Given the description of an element on the screen output the (x, y) to click on. 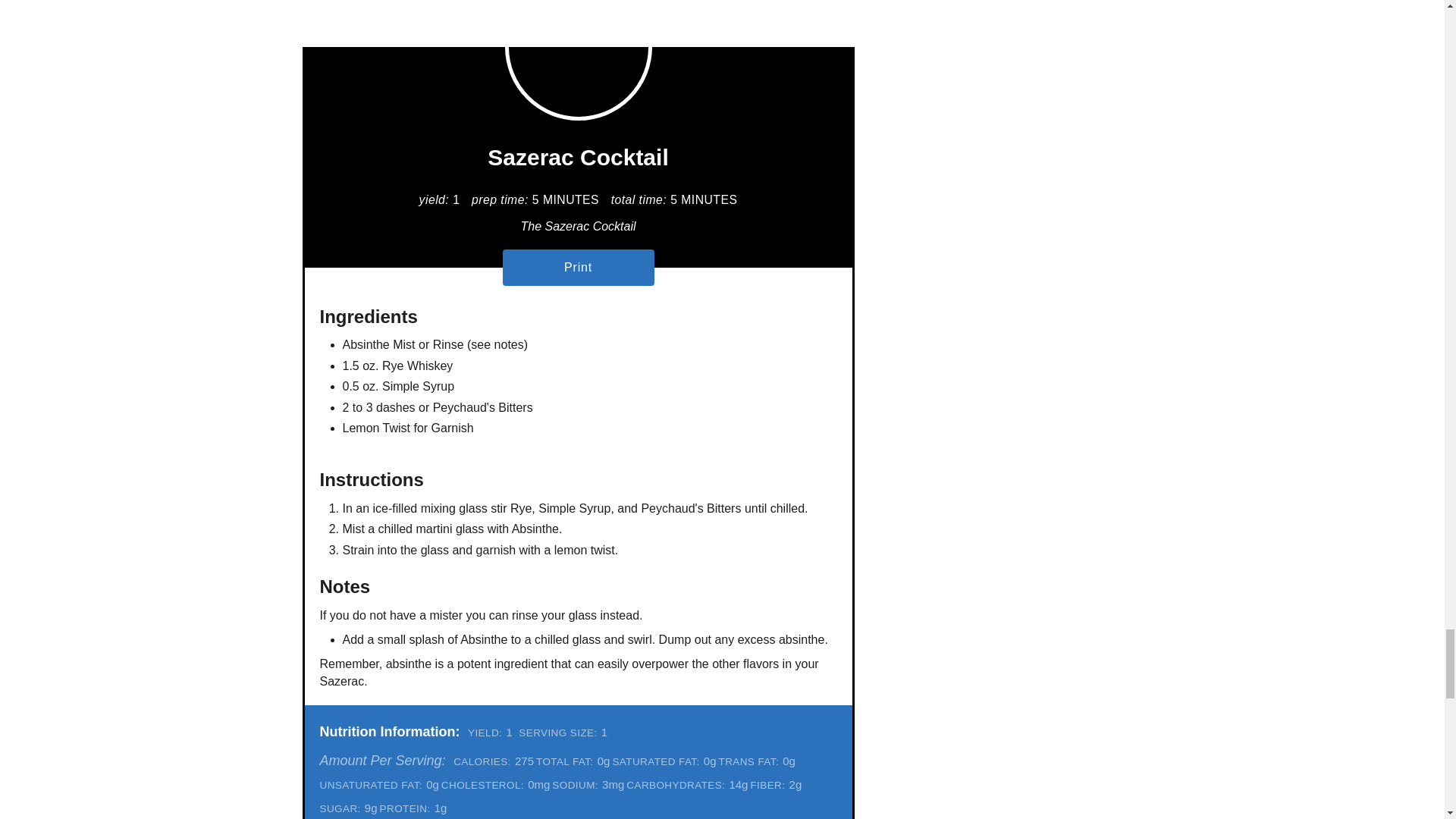
Sazerac Cocktail 5 (578, 60)
Print (577, 267)
